Given the description of an element on the screen output the (x, y) to click on. 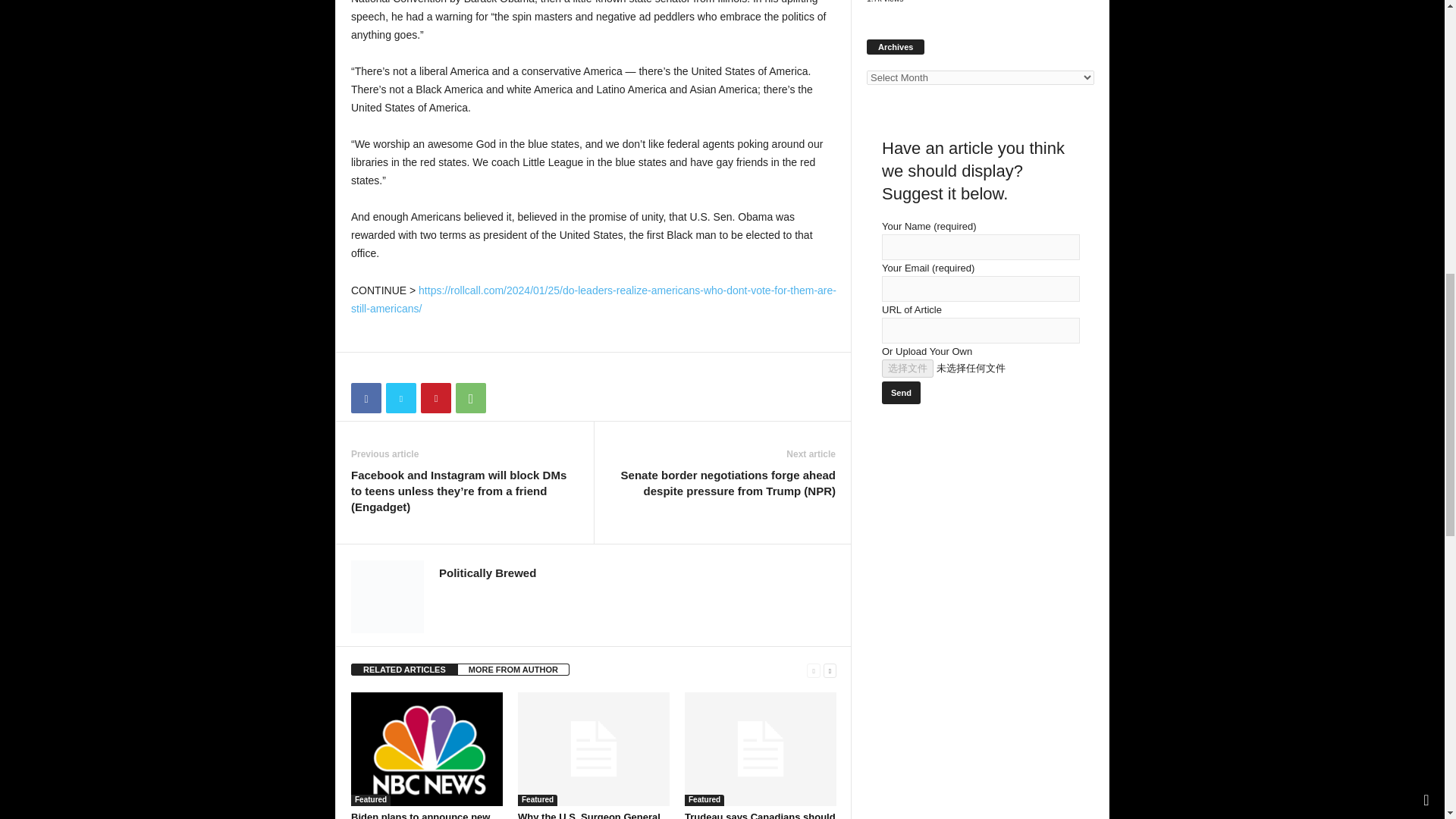
Send (901, 392)
